Given the description of an element on the screen output the (x, y) to click on. 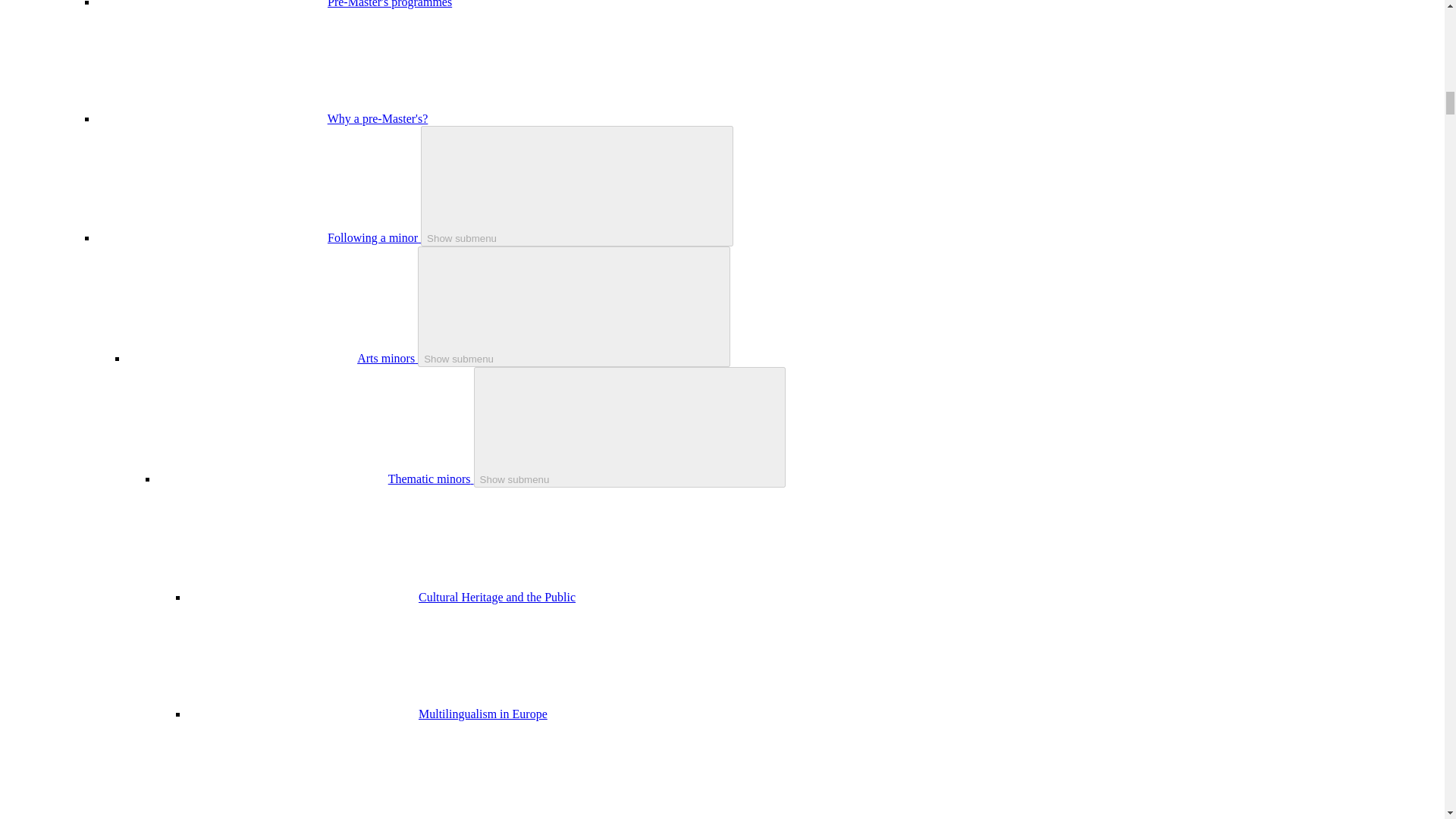
Pre-Master's programmes (389, 4)
Why a pre-Master's? (377, 118)
